Given the description of an element on the screen output the (x, y) to click on. 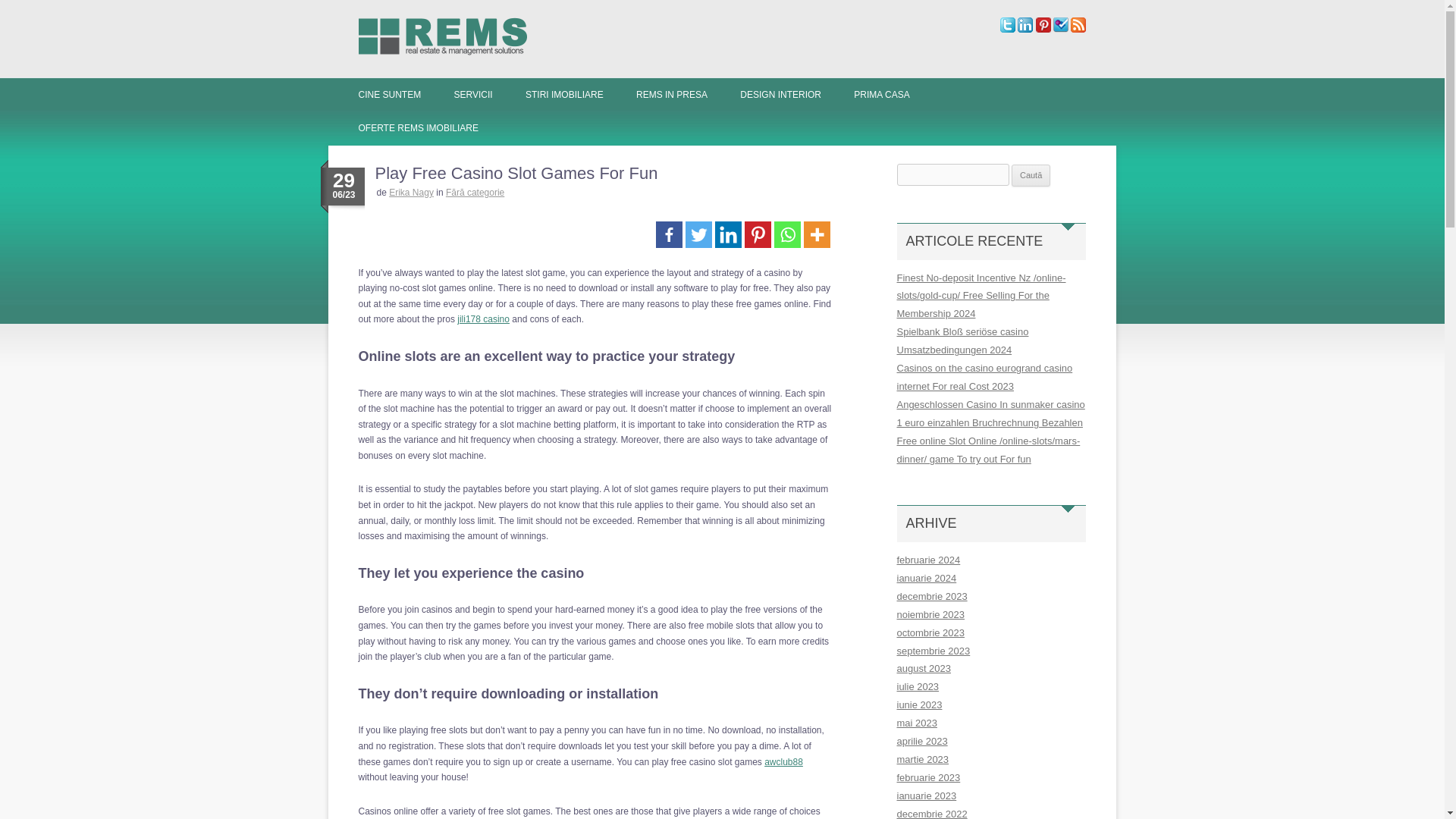
SERVICII (472, 94)
jili178 casino (483, 318)
Urmariti REMS Imobiliare pe Linkedin (1024, 29)
Twitter (698, 234)
Linkedin (727, 234)
Whatsapp (787, 234)
RSS Feed (1078, 29)
Facebook (669, 234)
CINE SUNTEM (389, 94)
Urmariti REMS Imobiliare pe twitter (1007, 29)
REMS IN PRESA (671, 94)
More (816, 234)
Articole de Erika Nagy (410, 192)
STIRI IMOBILIARE (564, 94)
DESIGN INTERIOR (780, 94)
